Given the description of an element on the screen output the (x, y) to click on. 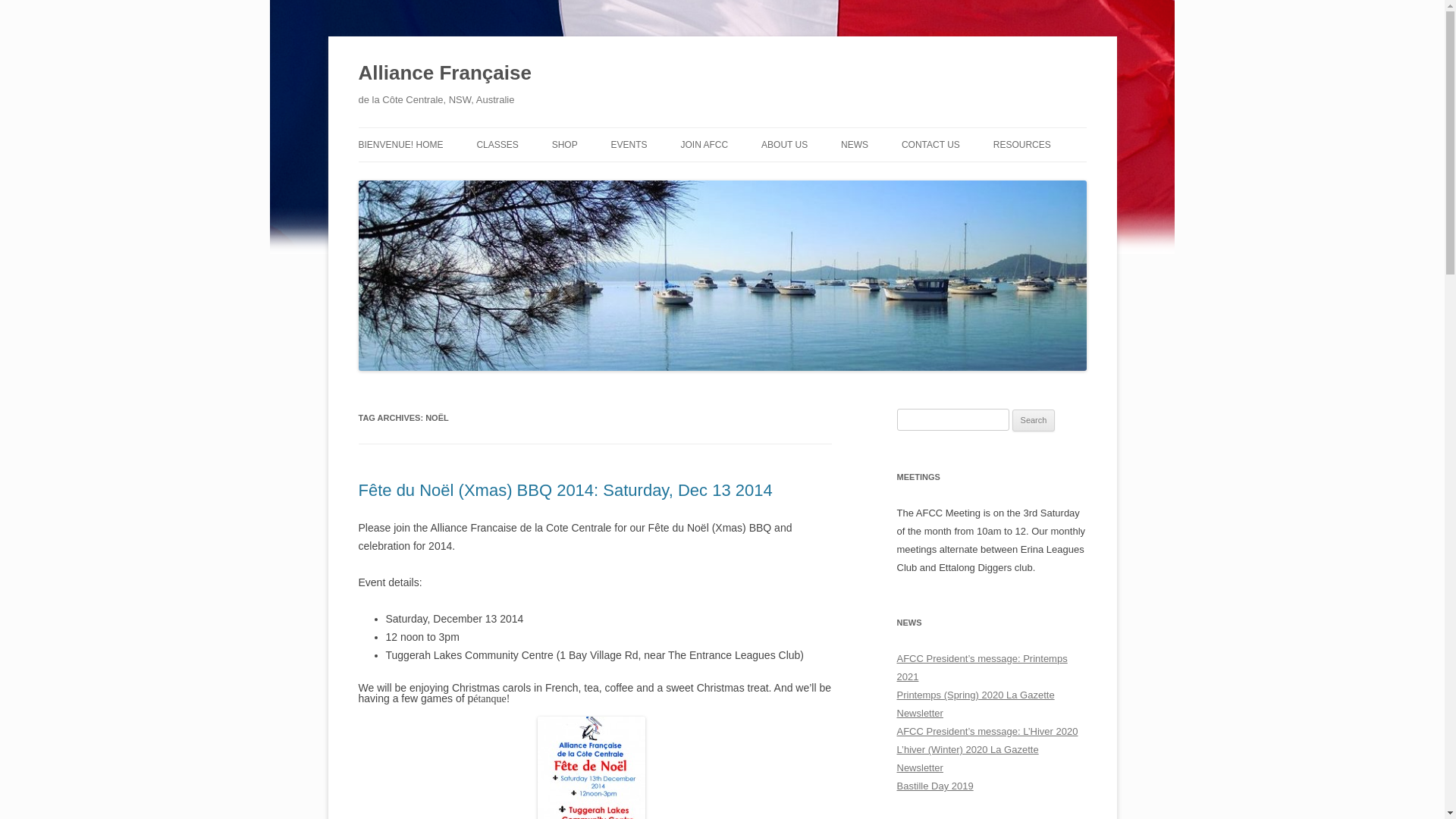
EVENTS Element type: text (629, 144)
OUR RENDEZ VOUS Element type: text (686, 176)
RESOURCES Element type: text (1022, 144)
Search Element type: text (1033, 420)
Bastille Day 2019 Element type: text (934, 785)
NEWS Element type: text (854, 144)
NEWSLETTER Element type: text (916, 176)
PHOTOS Element type: text (837, 176)
BIENVENUE! HOME Element type: text (399, 144)
CLASSES Element type: text (496, 144)
ABOUT US Element type: text (784, 144)
JOIN AFCC Element type: text (704, 144)
Printemps (Spring) 2020 La Gazette Newsletter Element type: text (975, 703)
SHOP Element type: text (564, 144)
CONTACT US Element type: text (930, 144)
FAQS Element type: text (551, 176)
CART Element type: text (627, 176)
Skip to content Element type: text (721, 127)
